Given the description of an element on the screen output the (x, y) to click on. 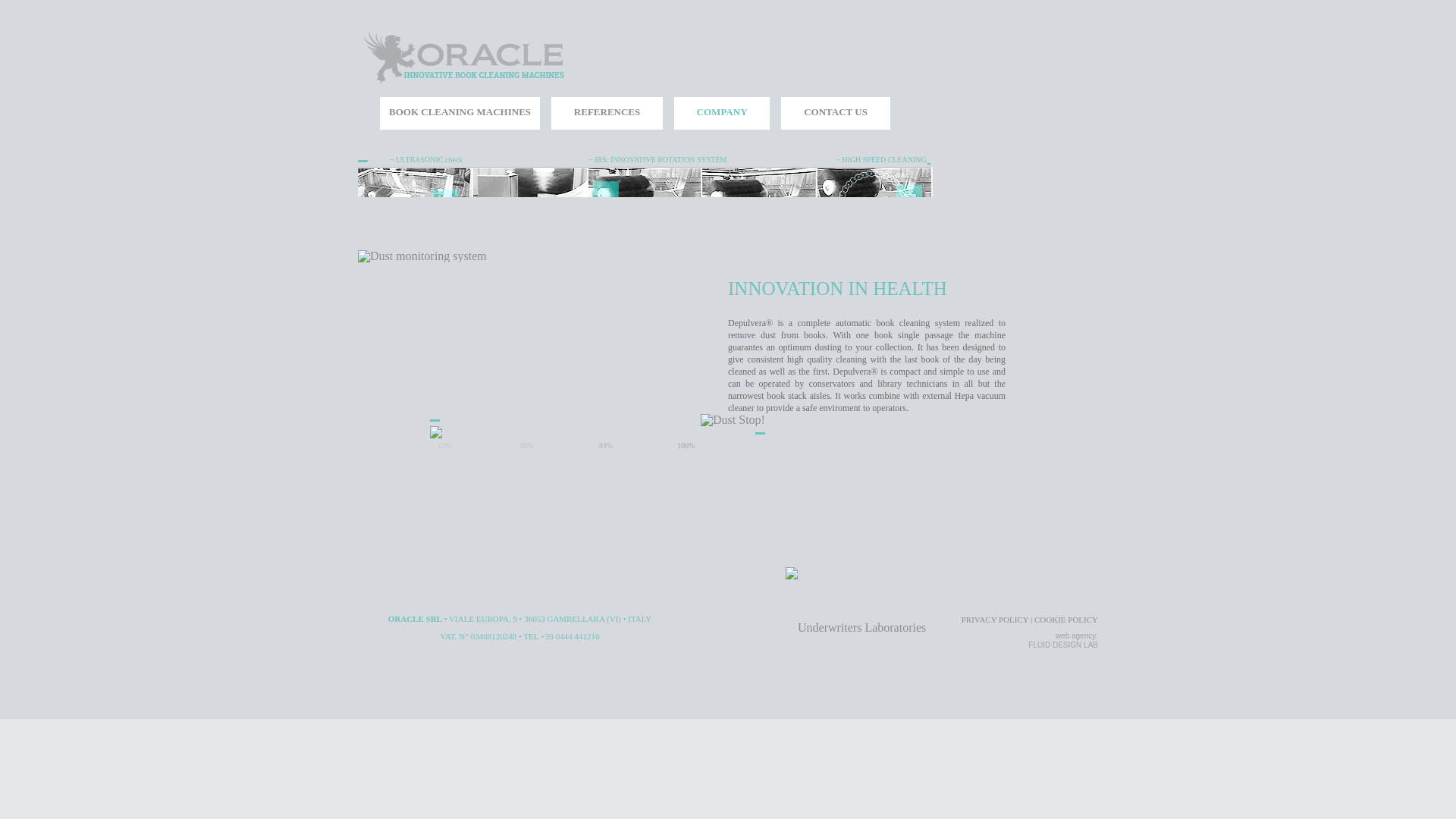
BOOK CLEANING MACHINES (460, 113)
Cookie Policy (1065, 619)
PRIVACY POLICY (994, 619)
CONTACT US (834, 113)
REFERENCES (606, 113)
Privacy Policy (994, 619)
COOKIE POLICY (1065, 619)
COMPANY (722, 113)
